Given the description of an element on the screen output the (x, y) to click on. 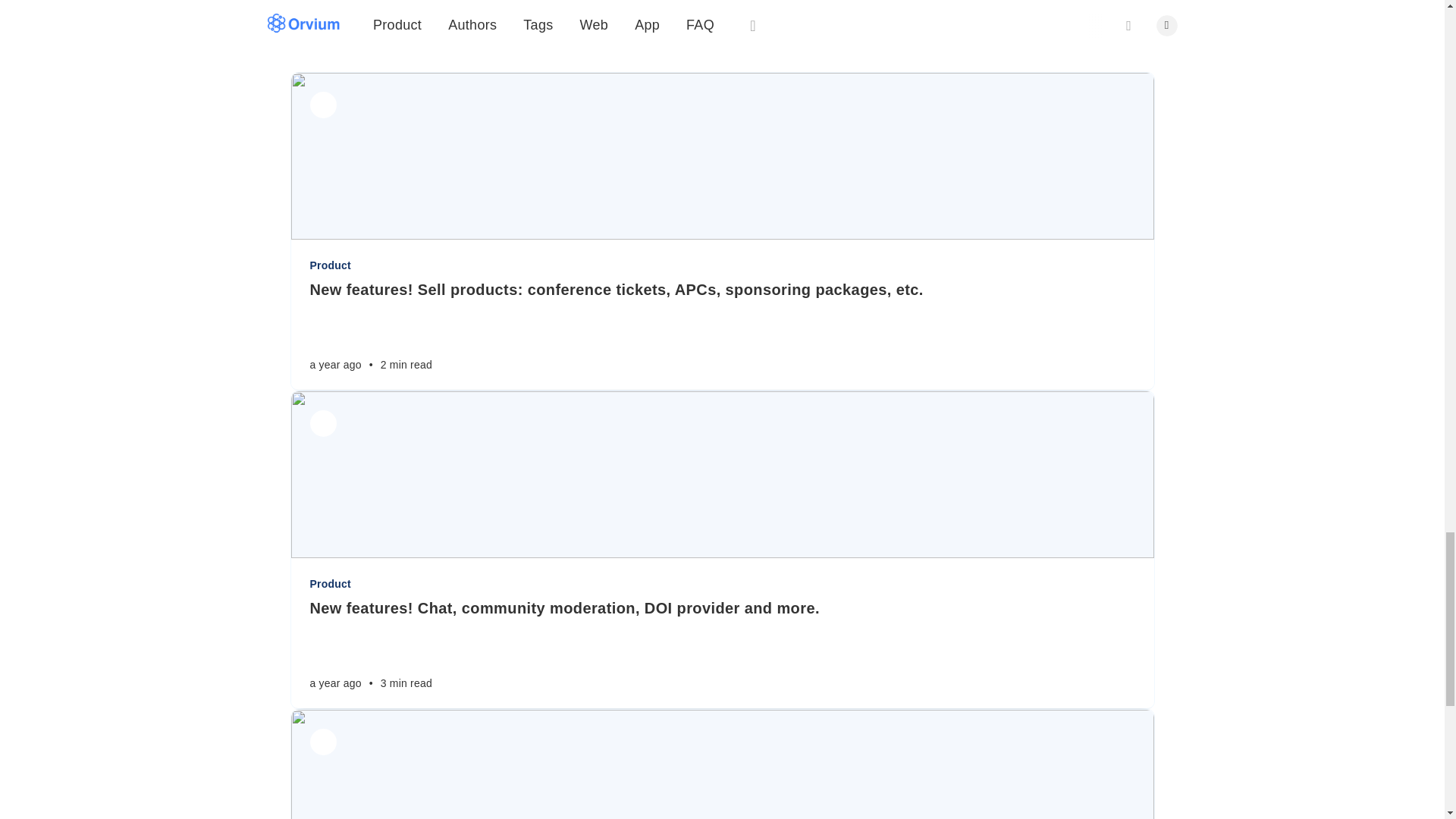
Product (723, 583)
Product (723, 264)
